Given the description of an element on the screen output the (x, y) to click on. 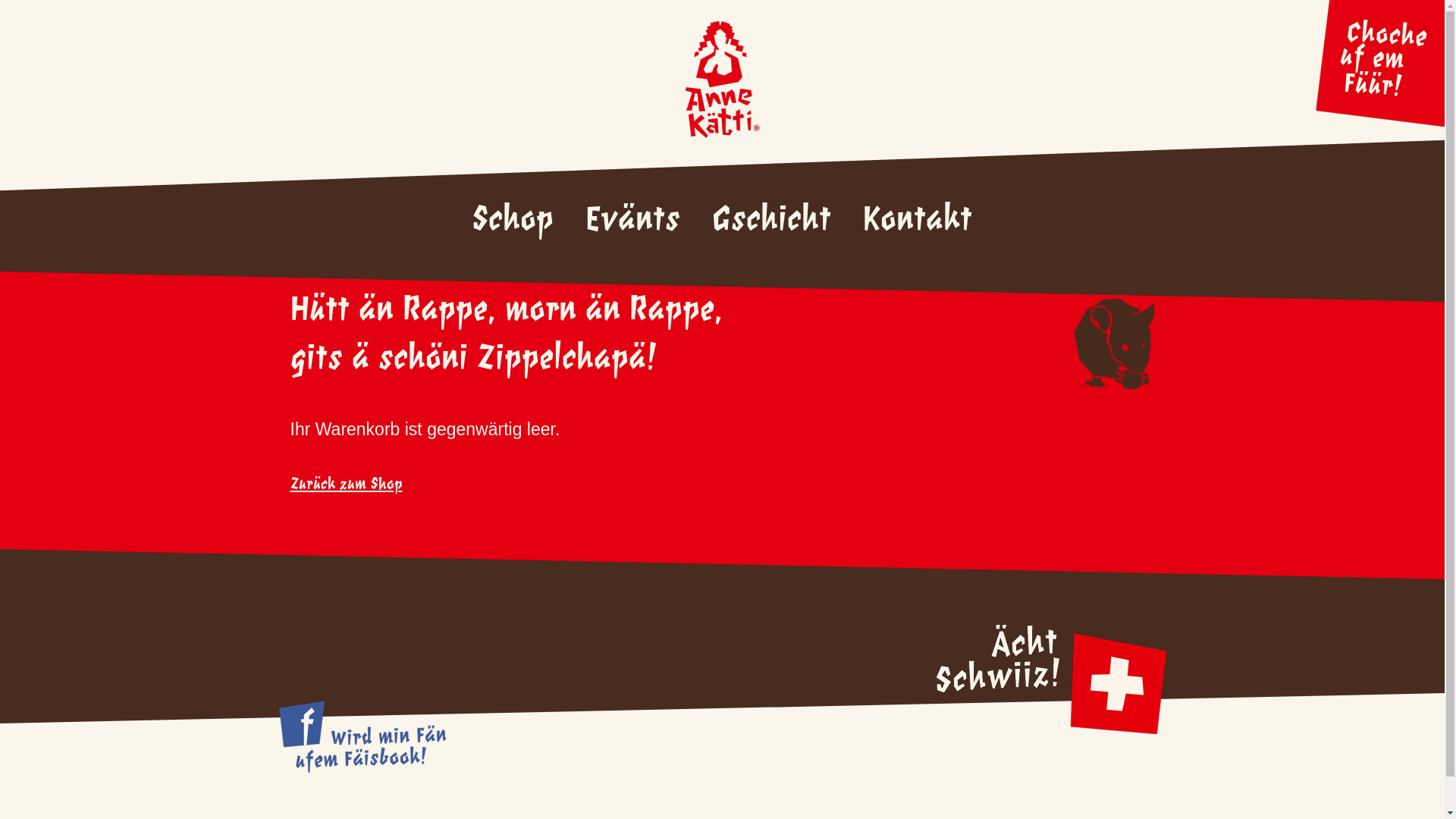
Gschicht Element type: text (771, 221)
Schop Element type: text (512, 221)
Kontakt Element type: text (917, 221)
